Given the description of an element on the screen output the (x, y) to click on. 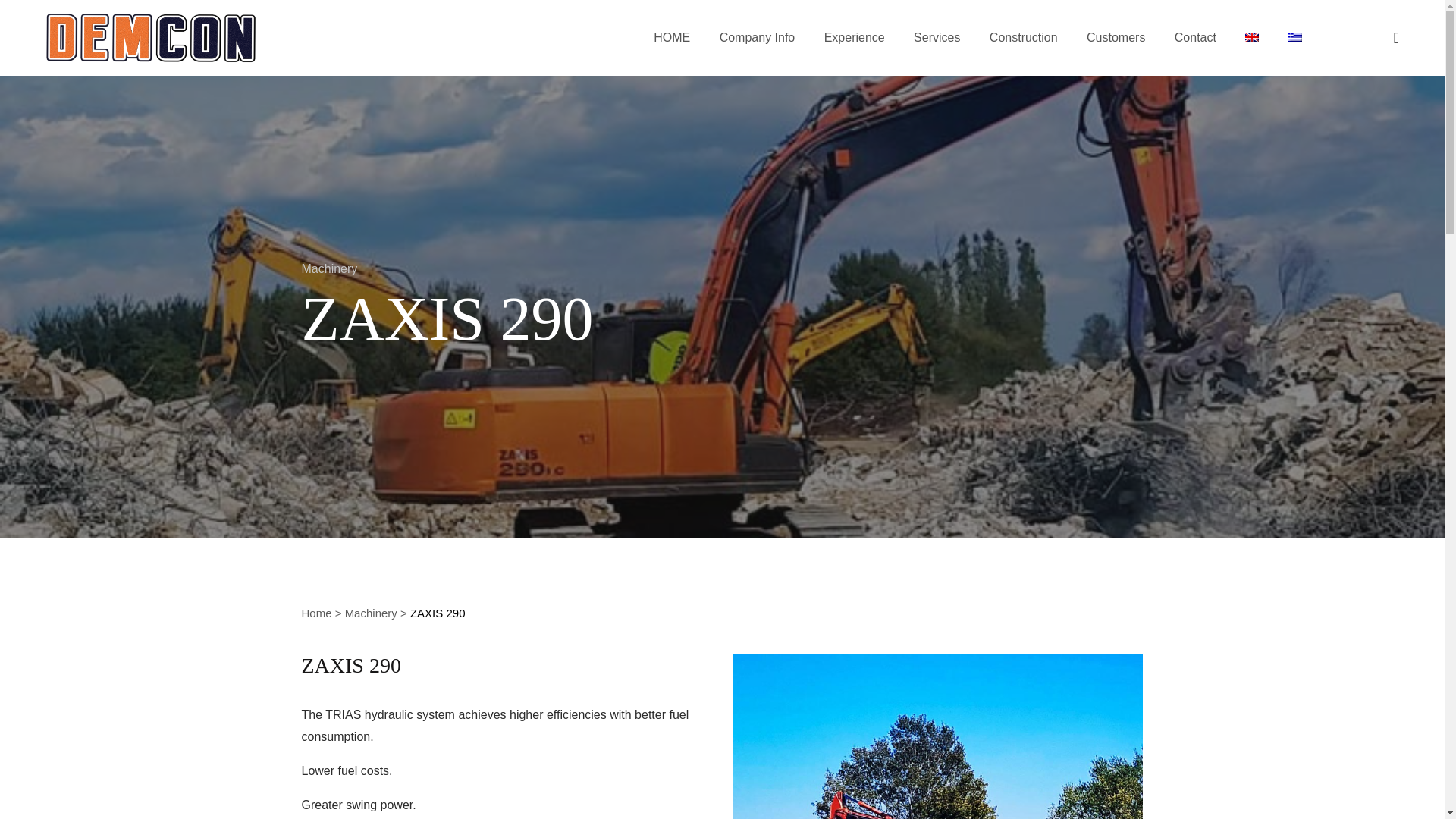
Contact (1194, 37)
Experience (854, 37)
HOME (671, 37)
Customers (1115, 37)
Construction (1024, 37)
Company Info (756, 37)
Services (936, 37)
